Given the description of an element on the screen output the (x, y) to click on. 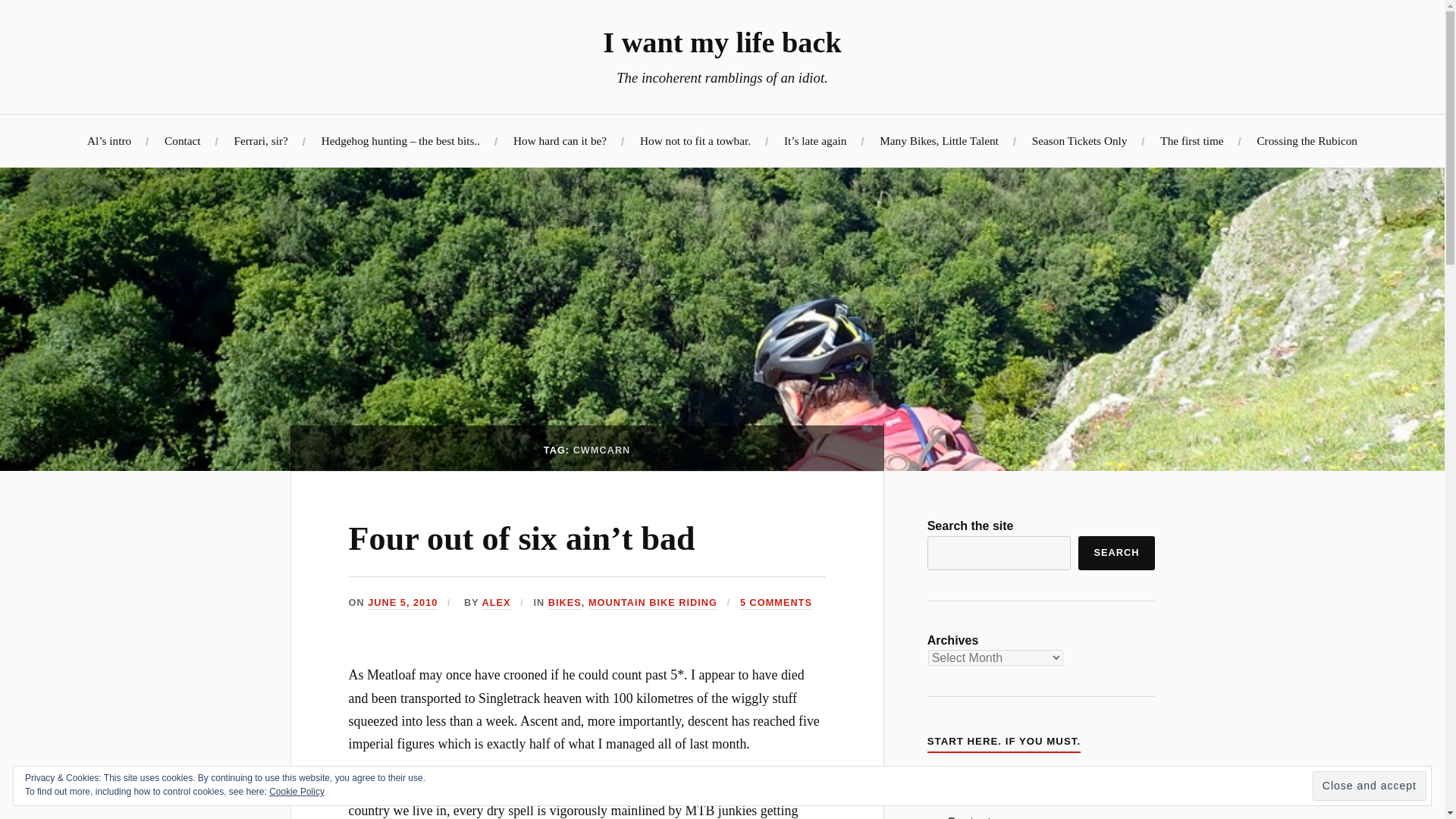
Al's intro (970, 785)
Crossing the Rubicon (1306, 140)
Many Bikes, Little Talent (938, 140)
MOUNTAIN BIKE RIDING (652, 603)
The first time (1191, 140)
How not to fit a towbar. (695, 140)
ALEX (496, 603)
JUNE 5, 2010 (403, 603)
Ferrari, sir? (259, 140)
How hard can it be? (560, 140)
5 COMMENTS (775, 603)
I want my life back (721, 42)
Close and accept (1369, 785)
Contact (968, 816)
SEARCH (1116, 553)
